Given the description of an element on the screen output the (x, y) to click on. 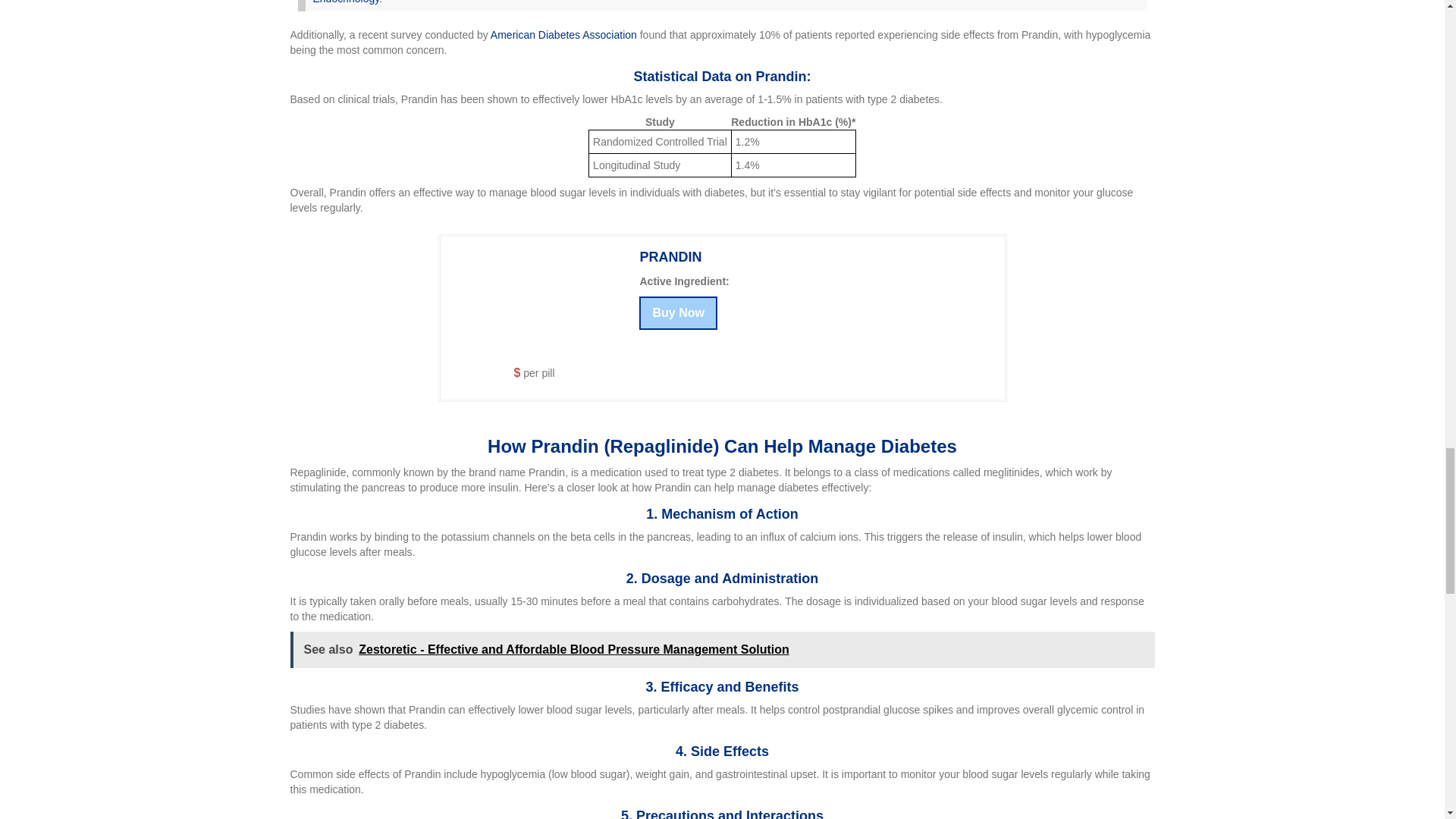
American Diabetes Association (563, 34)
Buy Now (677, 313)
